Given the description of an element on the screen output the (x, y) to click on. 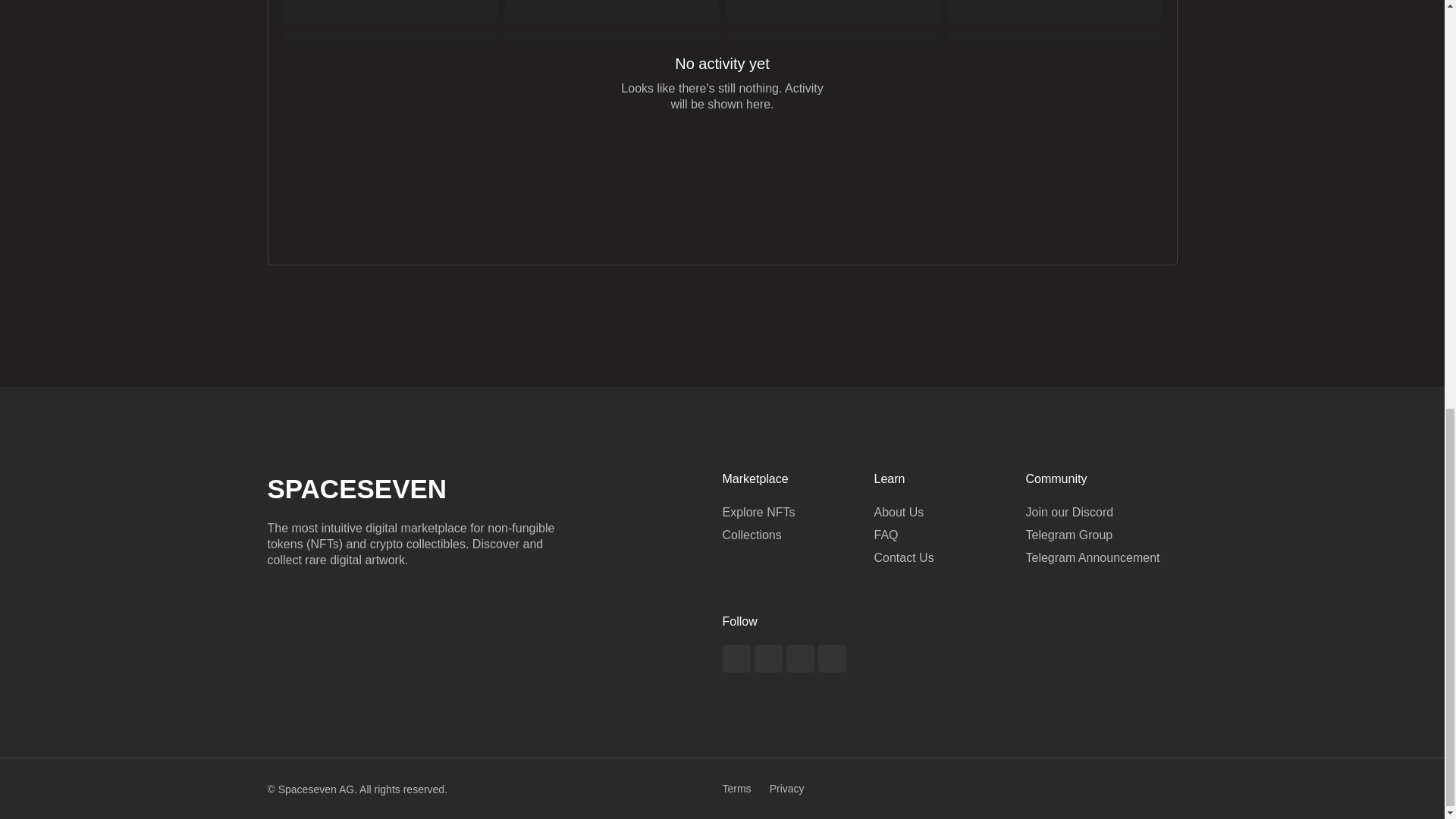
Contact Us (949, 558)
Telegram Group (1100, 535)
Explore NFTs (797, 512)
Privacy (787, 789)
Join our Discord (1100, 512)
Terms (736, 789)
About Us (949, 512)
Collections (797, 535)
Telegram Announcement (1100, 558)
FAQ (949, 535)
